Given the description of an element on the screen output the (x, y) to click on. 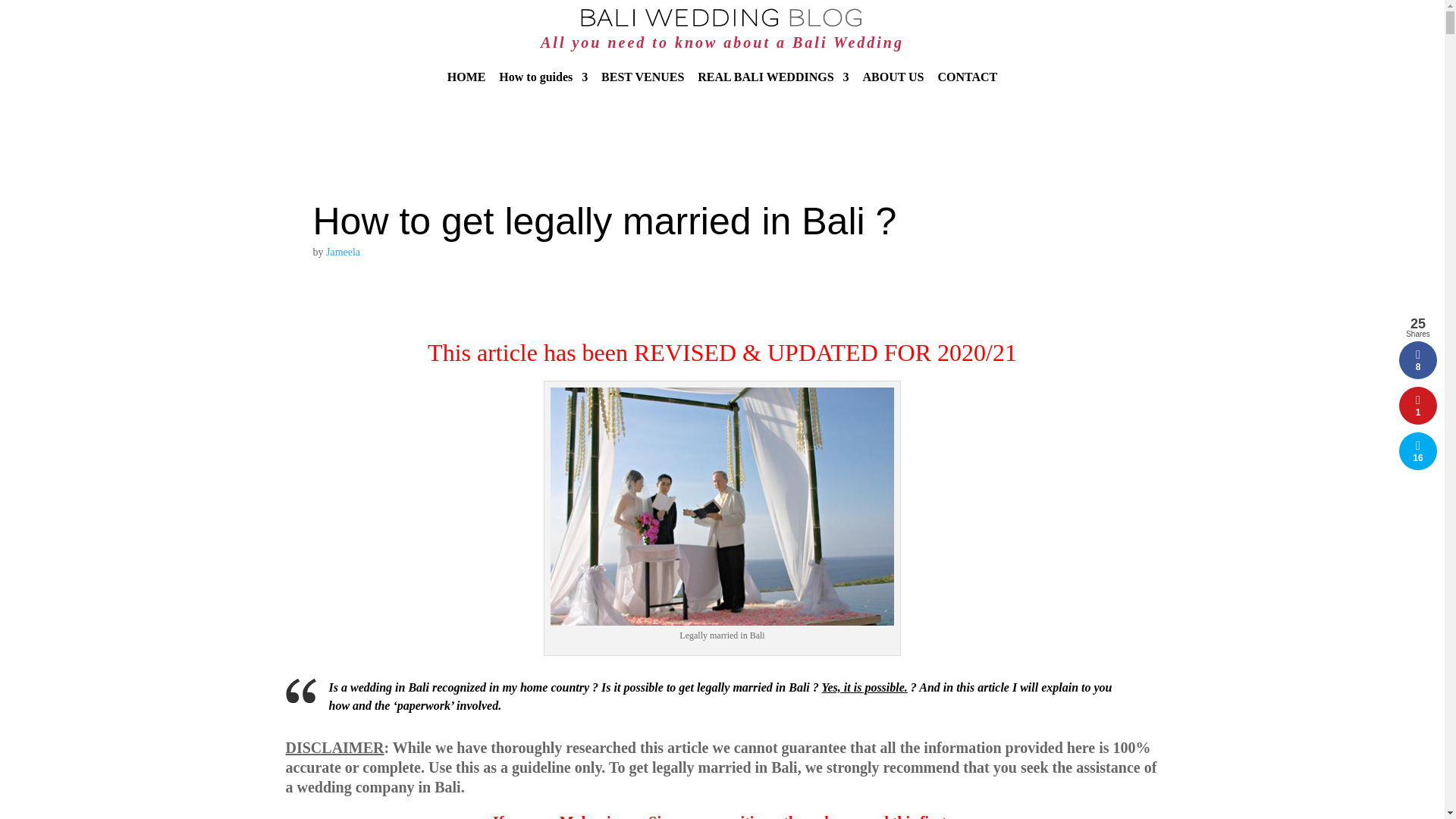
Posts by Jameela (342, 251)
How to guides (543, 89)
CONTACT (967, 89)
BEST VENUES (642, 89)
Jameela (342, 251)
REAL BALI WEDDINGS (772, 89)
ABOUT US (892, 89)
Real Bali Weddings (772, 89)
